Given the description of an element on the screen output the (x, y) to click on. 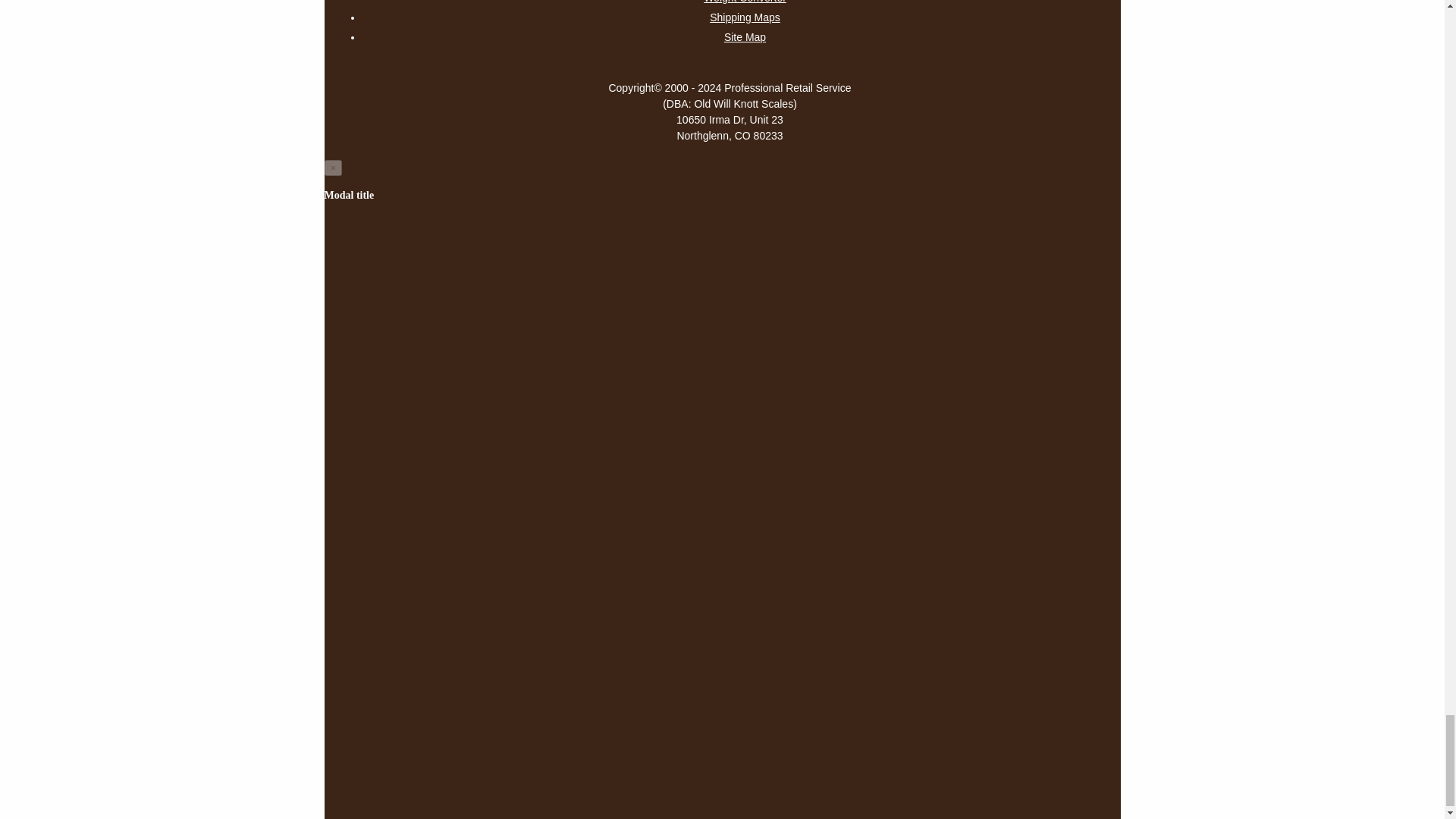
Go to our weight converter page (744, 3)
Go to our FedEx Ground shipping transit times map page (745, 17)
